Given the description of an element on the screen output the (x, y) to click on. 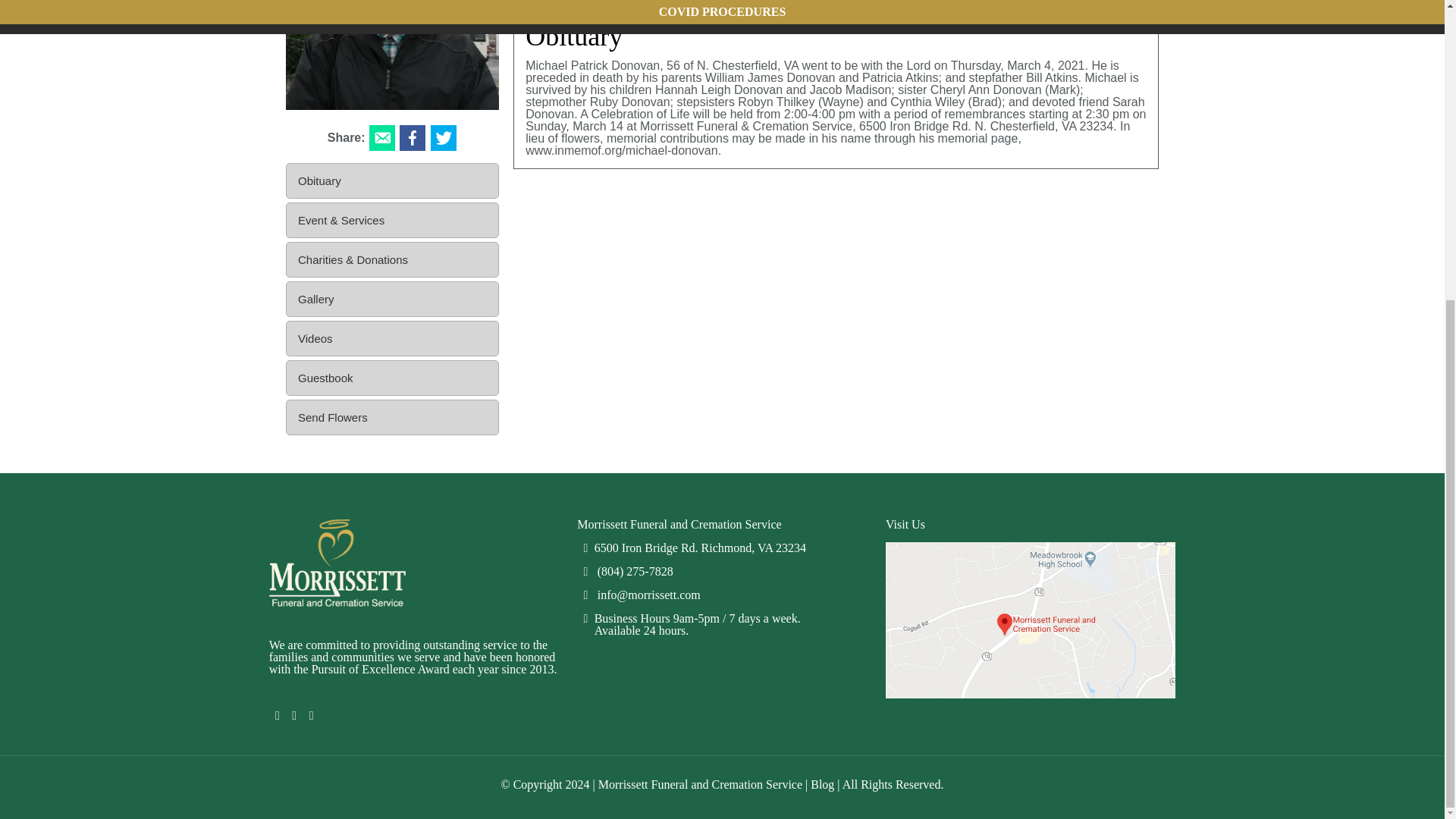
instagram (310, 715)
Facebook (277, 715)
Linkedin (293, 715)
